Given the description of an element on the screen output the (x, y) to click on. 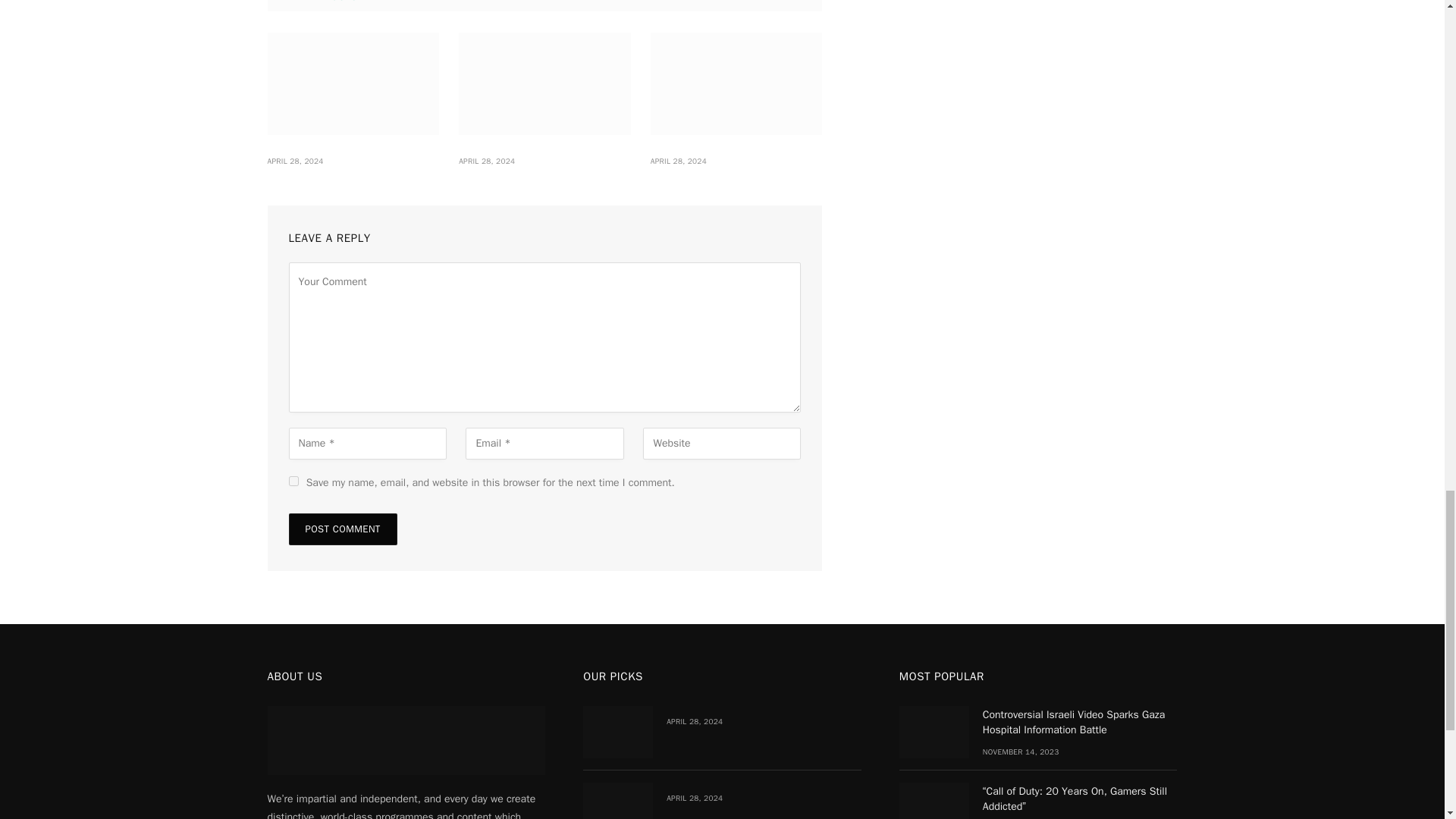
yes (293, 480)
Post Comment (342, 529)
